Given the description of an element on the screen output the (x, y) to click on. 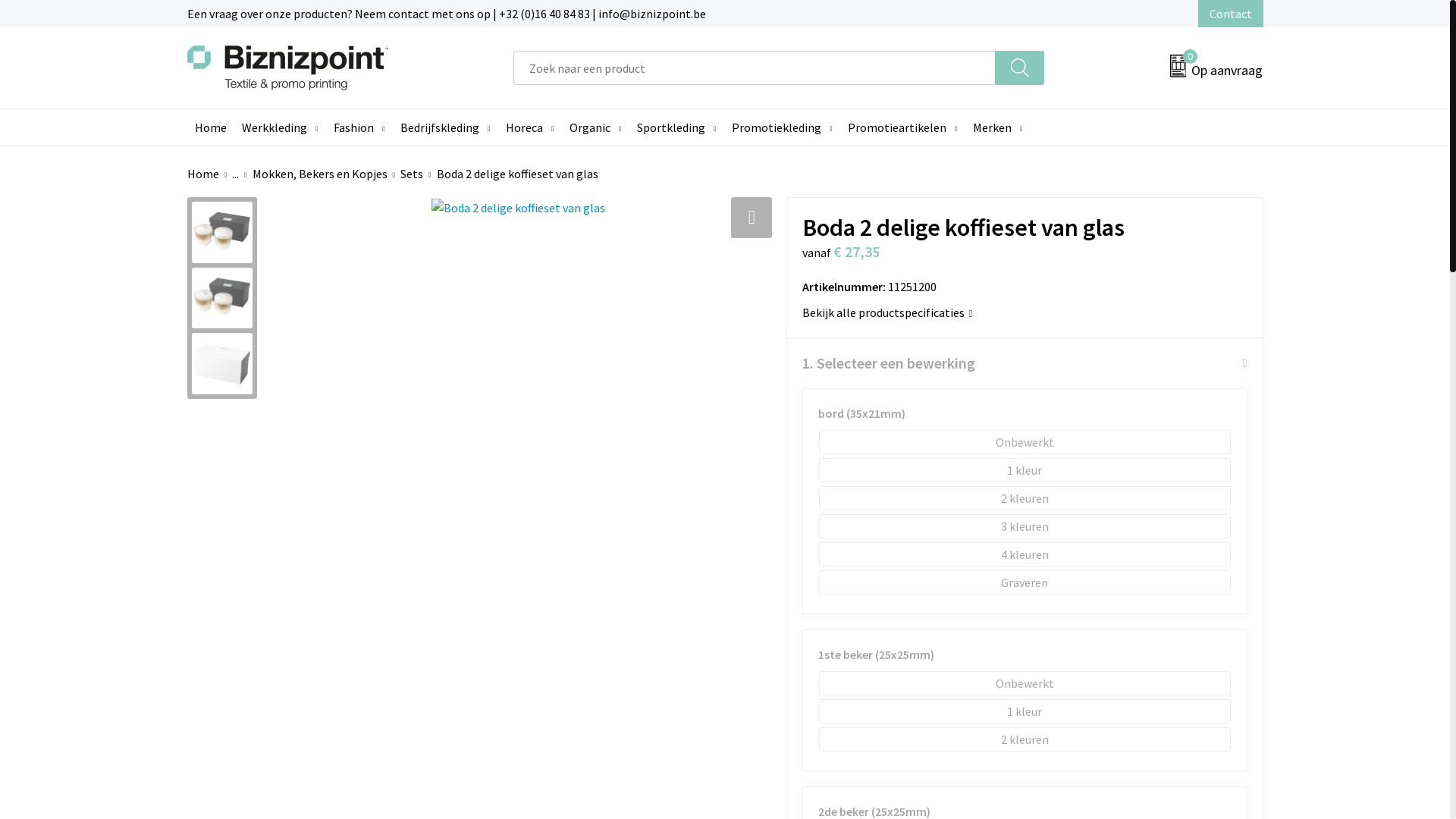
Home Element type: text (209, 173)
Home Element type: text (209, 127)
Boda 2 delige koffieset van glas - Transparant Element type: hover (222, 297)
Boda 2 delige koffieset van glas Element type: hover (518, 207)
Sets Element type: text (418, 173)
Boda 2 delige koffieset van glas - Transparant Element type: hover (222, 363)
Contact Element type: text (1230, 13)
Mokken, Bekers en Kopjes Element type: text (326, 173)
Bekijk alle productspecificaties Element type: text (1024, 312)
Boda 2 delige koffieset van glas - Transparant Element type: hover (222, 231)
